Given the description of an element on the screen output the (x, y) to click on. 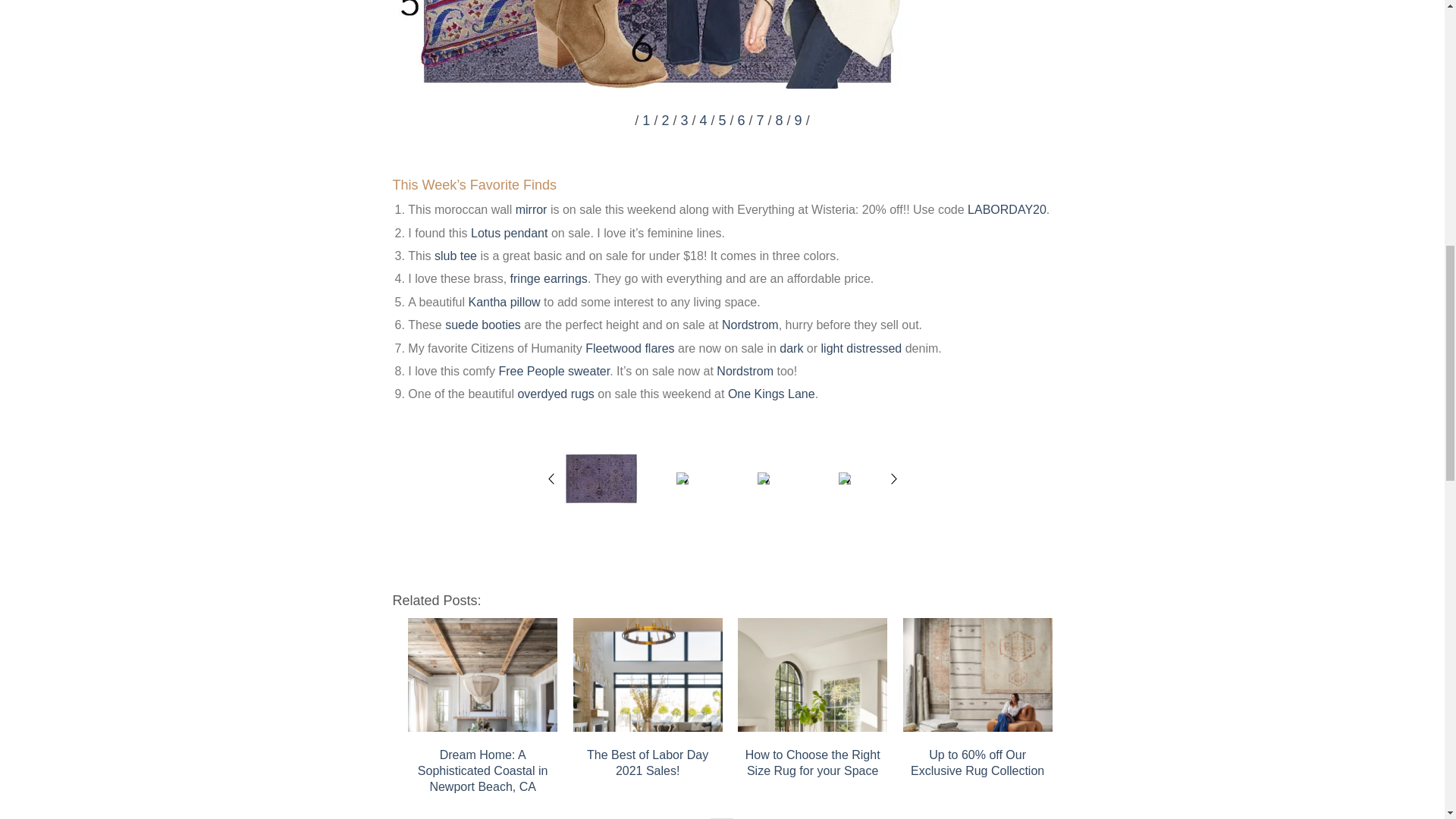
Dream Home: A Sophisticated Coastal in Newport Beach, CA (482, 675)
The Best of Labor Day 2021 Sales! (647, 675)
How to Choose the Right Size Rug for your Space (812, 675)
